Given the description of an element on the screen output the (x, y) to click on. 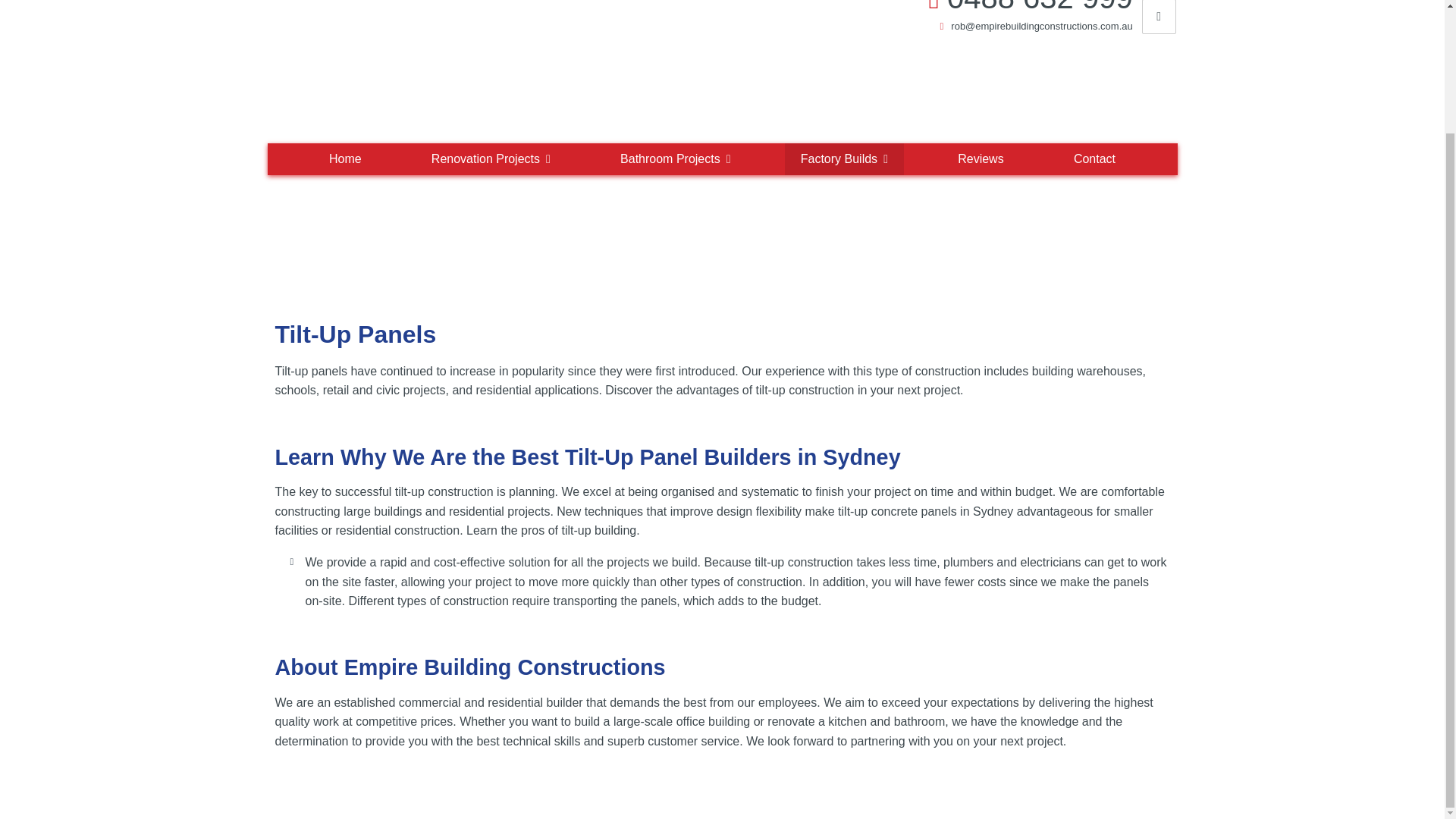
Home (345, 159)
0488 632 999 (1039, 7)
Reviews (980, 159)
Renovation Projects (490, 159)
Contact (1094, 159)
Factory Builds (844, 159)
Bathroom Projects (674, 159)
